Given the description of an element on the screen output the (x, y) to click on. 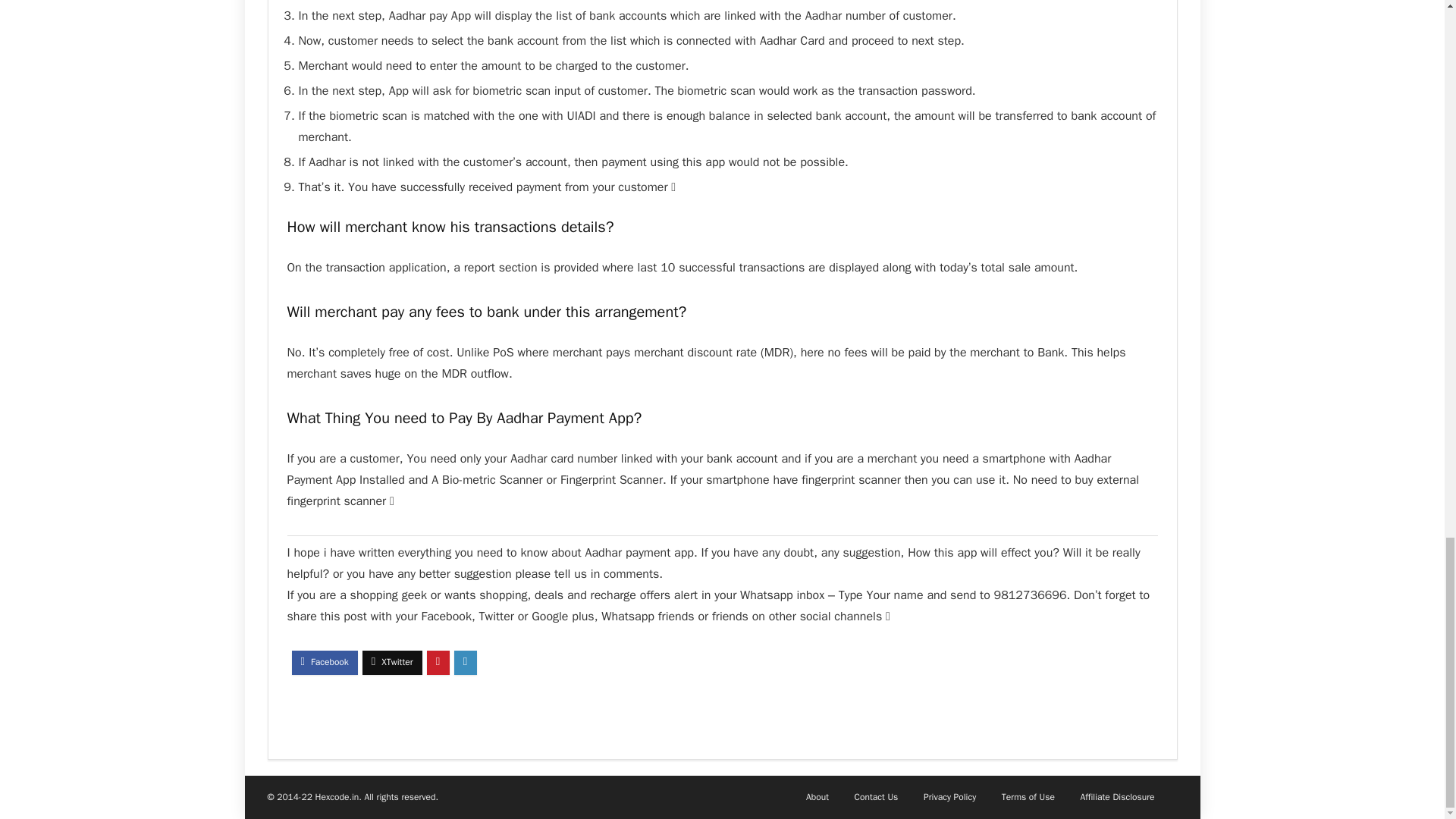
About (817, 797)
Contact Us (876, 797)
Terms of Use (1027, 797)
Affiliate Disclosure (1117, 797)
Privacy Policy (949, 797)
